Given the description of an element on the screen output the (x, y) to click on. 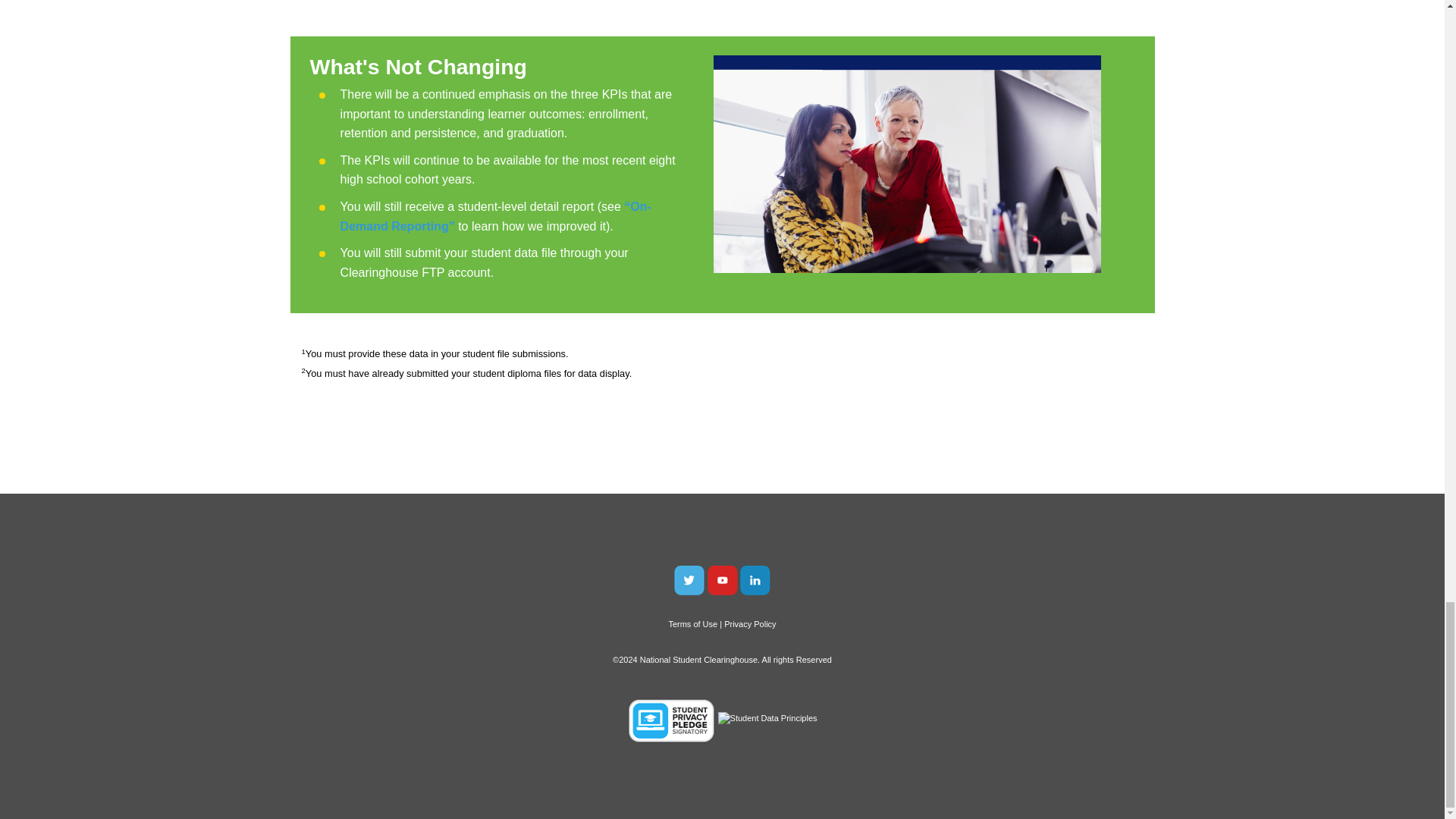
Twitter (689, 578)
Privacy Policy (749, 623)
LinkedIn (754, 578)
Privacy Policy (749, 623)
Terms of Use (692, 623)
YouTube (721, 578)
Terms of Use (692, 623)
